Given the description of an element on the screen output the (x, y) to click on. 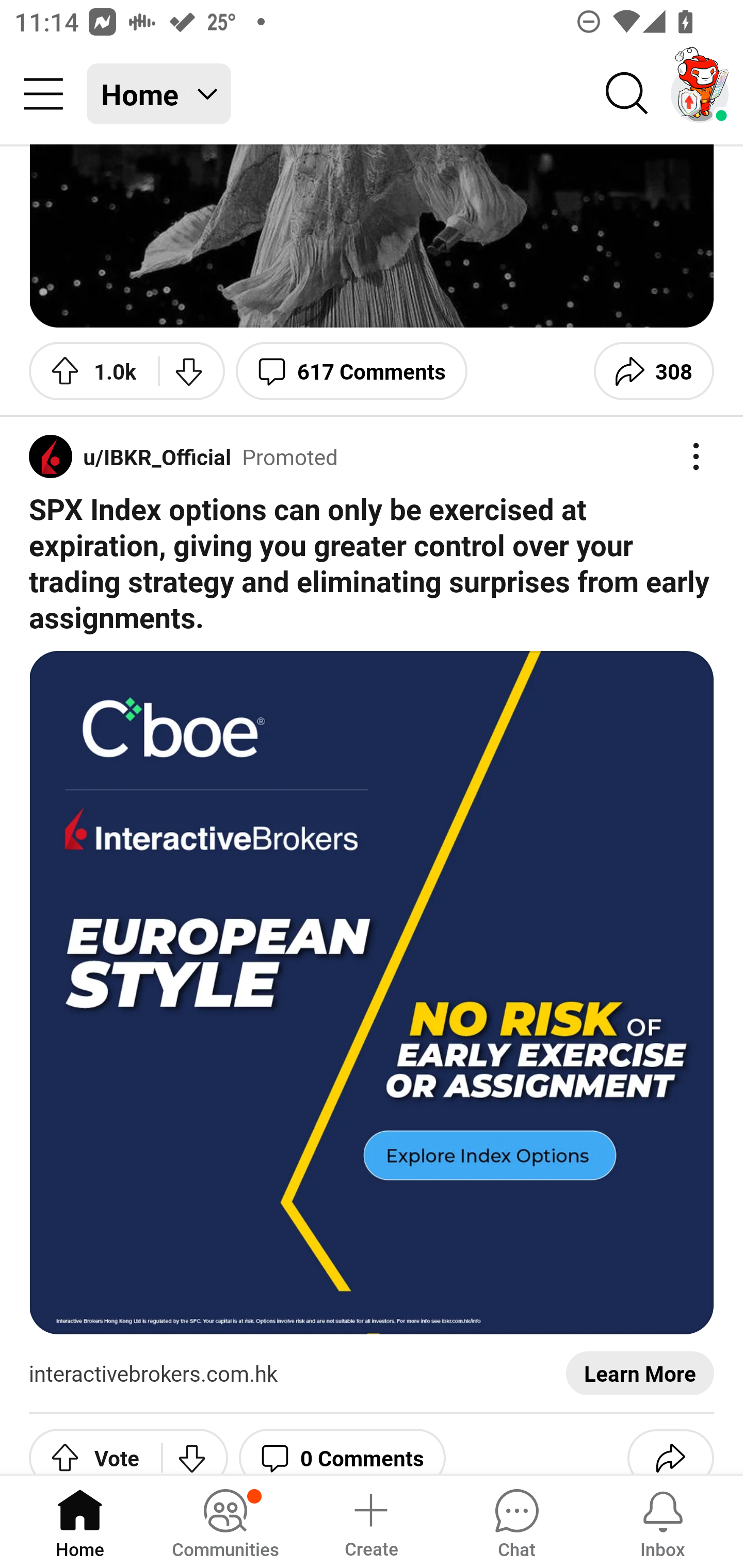
Community menu (43, 93)
Home Home feed (158, 93)
Search (626, 93)
TestAppium002 account (699, 93)
Home (80, 1520)
Communities, has notifications Communities (225, 1520)
Create a post Create (370, 1520)
Chat (516, 1520)
Inbox (662, 1520)
